Given the description of an element on the screen output the (x, y) to click on. 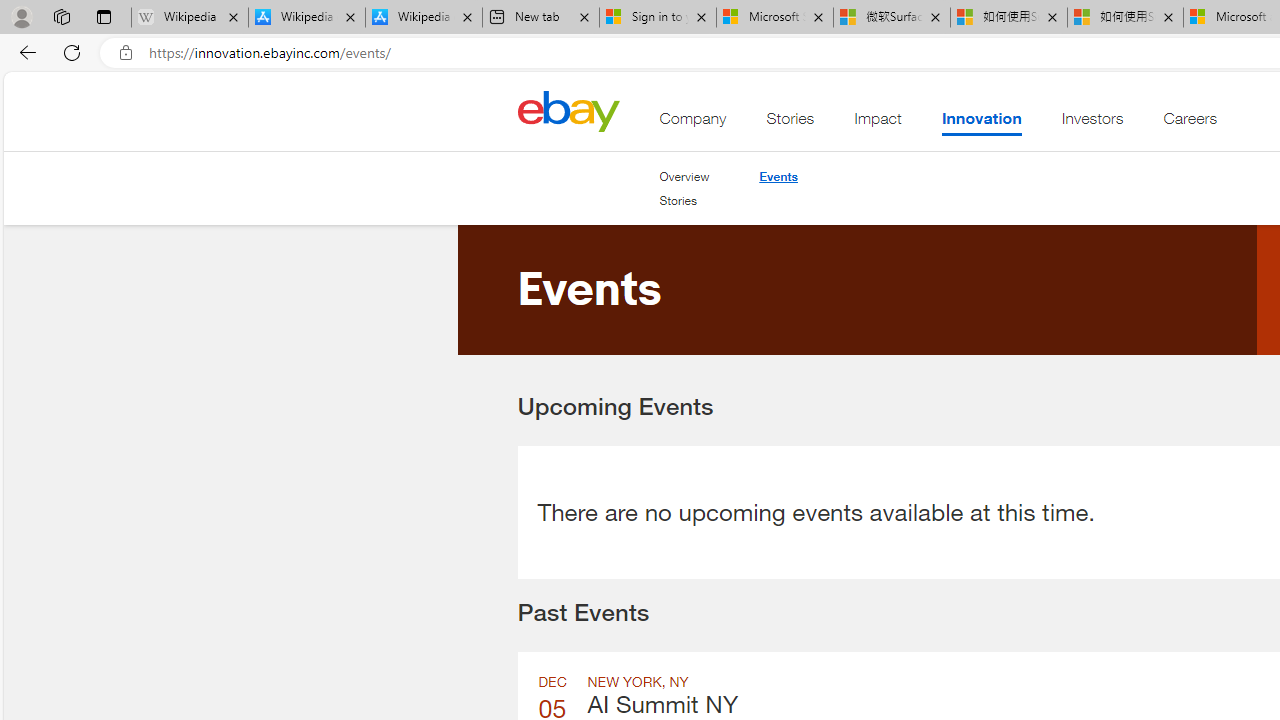
Overview (684, 176)
Overview (684, 176)
Stories (684, 201)
Events (778, 176)
Company (693, 123)
Careers (1190, 123)
